Given the description of an element on the screen output the (x, y) to click on. 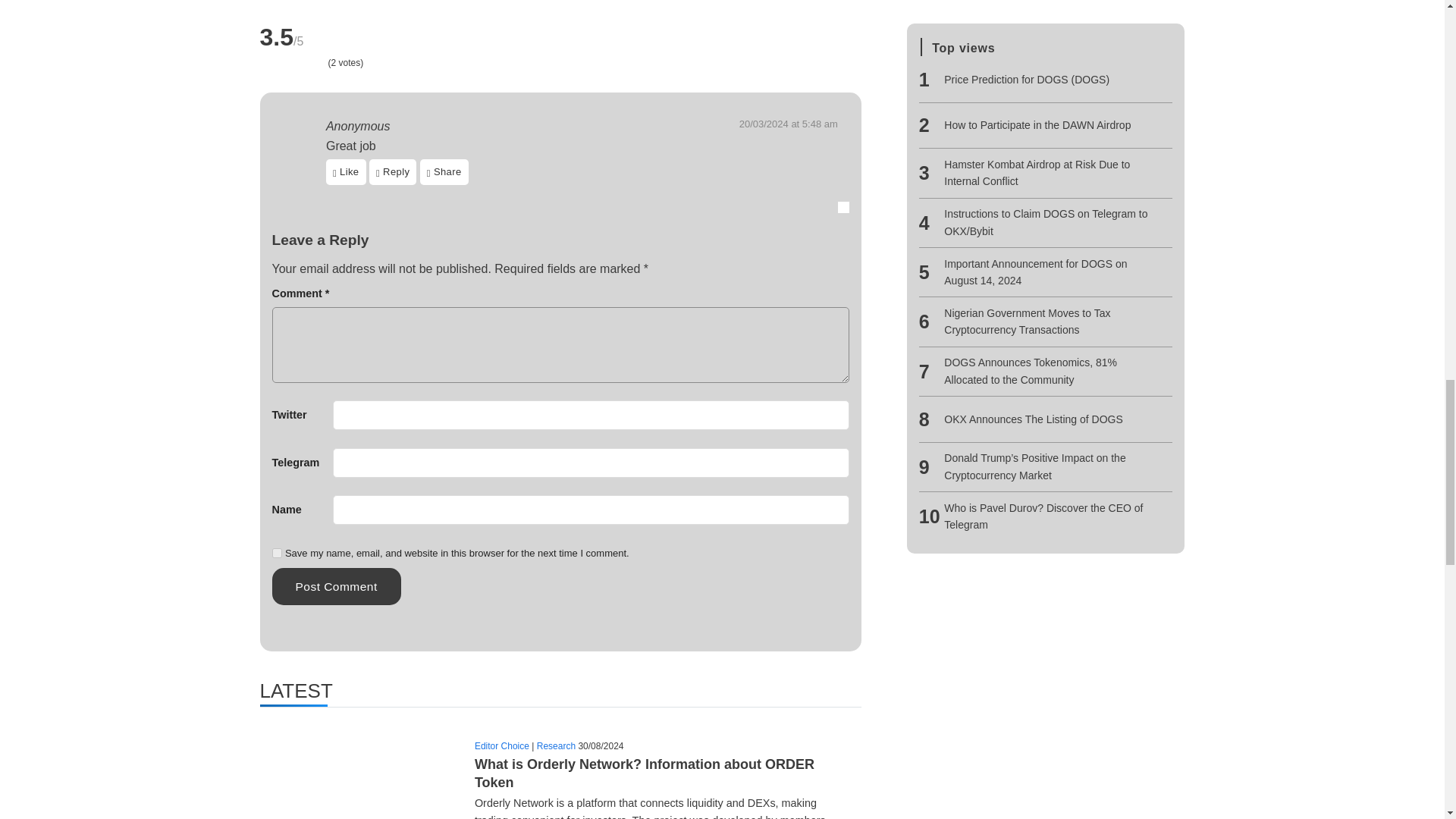
Reply (392, 171)
What is Orderly Network? Information about ORDER Token 4 (358, 784)
yes (275, 552)
Like (346, 171)
Reply (395, 171)
Share (444, 171)
Post Comment (335, 586)
